Given the description of an element on the screen output the (x, y) to click on. 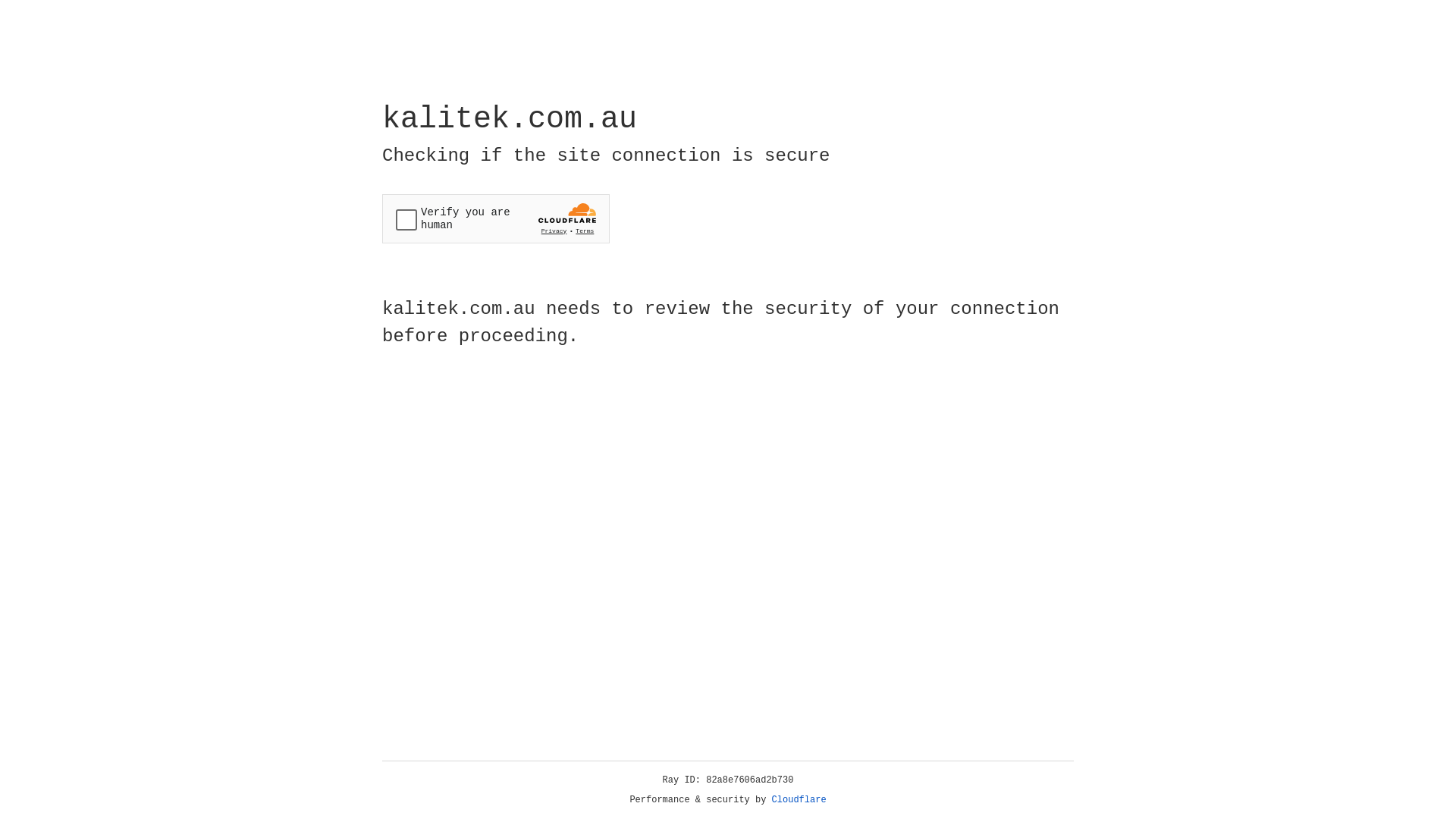
Widget containing a Cloudflare security challenge Element type: hover (495, 218)
Cloudflare Element type: text (798, 799)
